Given the description of an element on the screen output the (x, y) to click on. 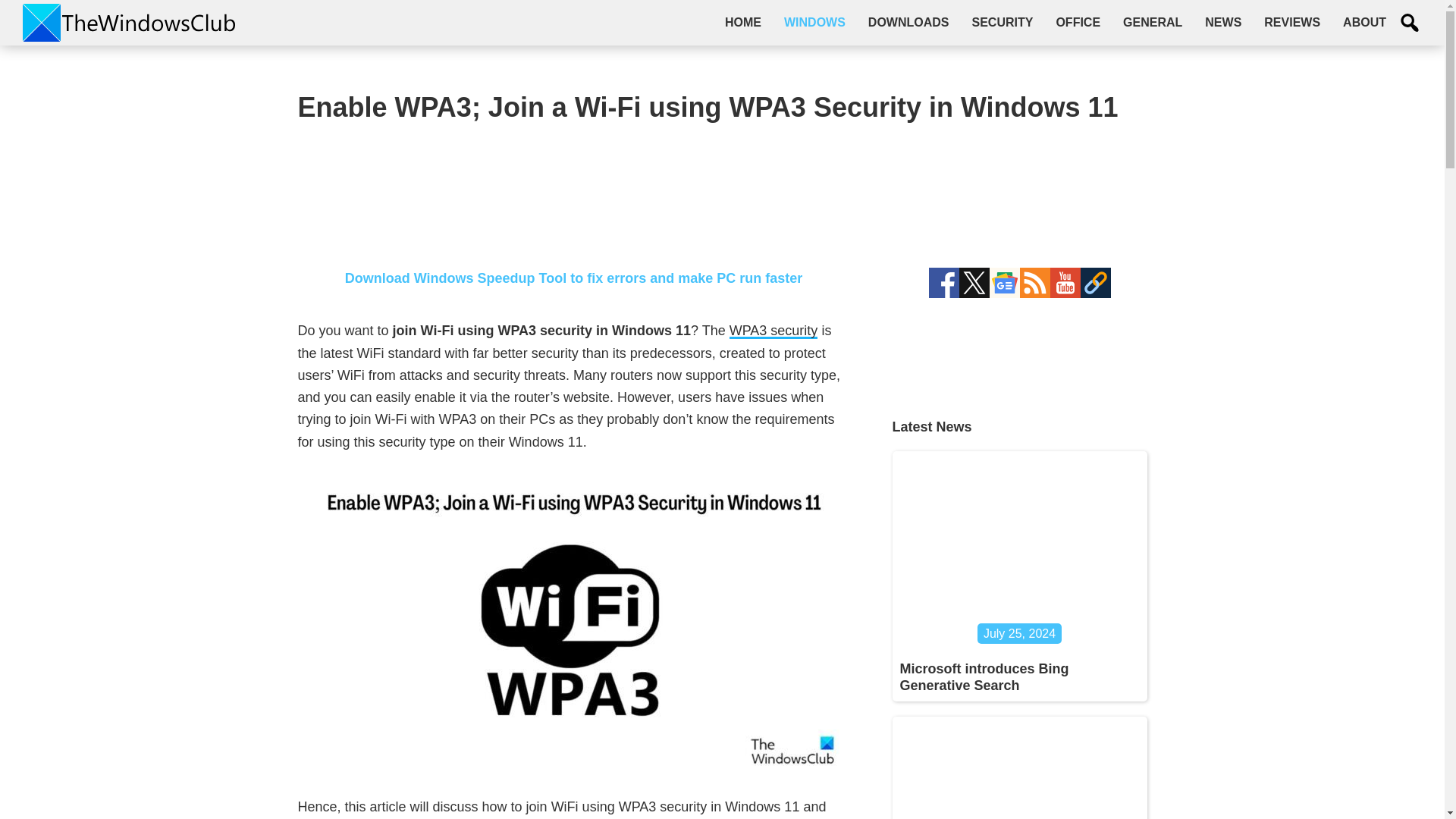
REVIEWS (1292, 22)
HOME (743, 22)
GENERAL (1152, 22)
OFFICE (1077, 22)
WPA3 security (773, 330)
NEWS (1222, 22)
SECURITY (1001, 22)
Show Search (1409, 22)
